Given the description of an element on the screen output the (x, y) to click on. 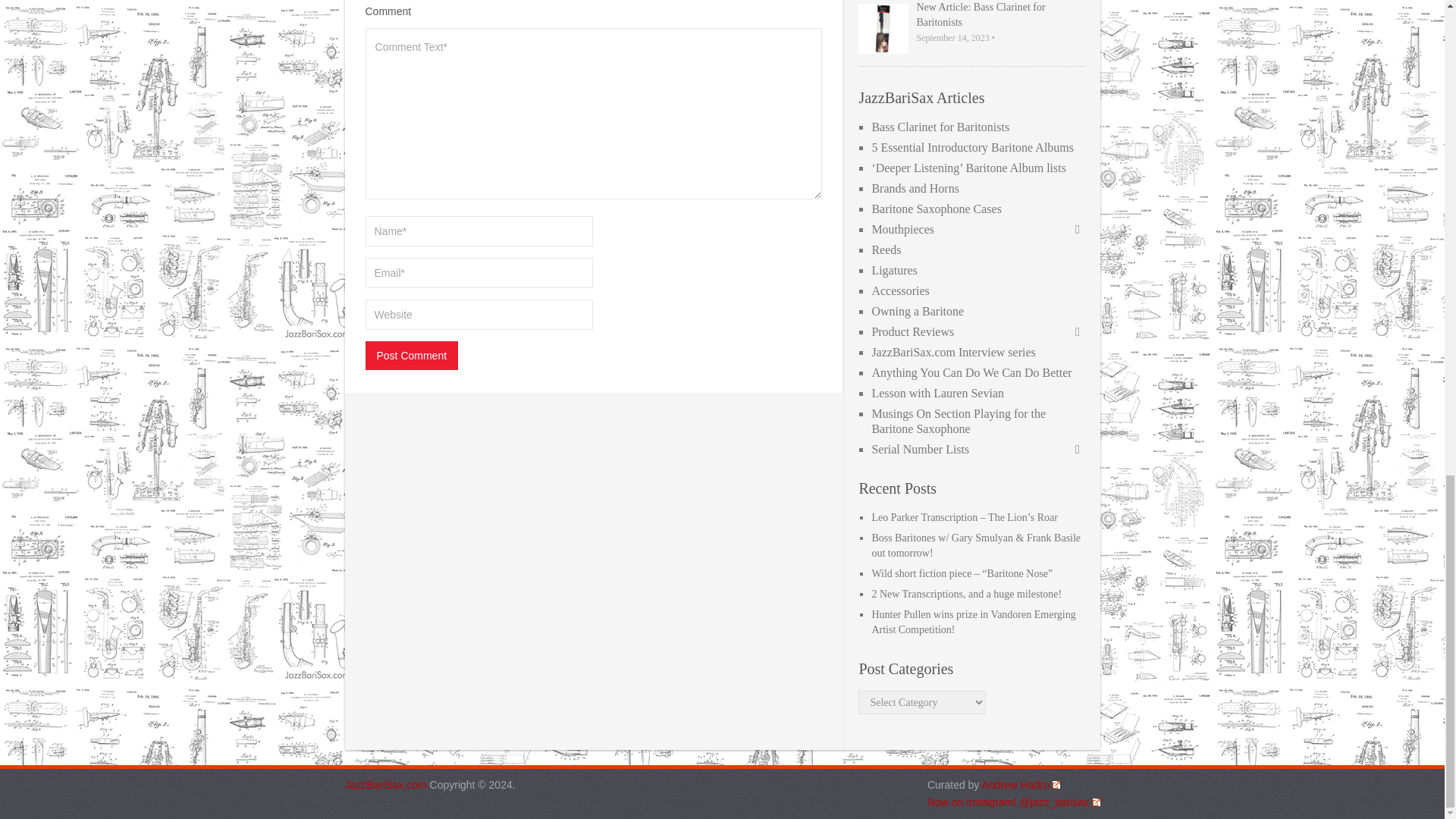
Post Comment (411, 355)
